Given the description of an element on the screen output the (x, y) to click on. 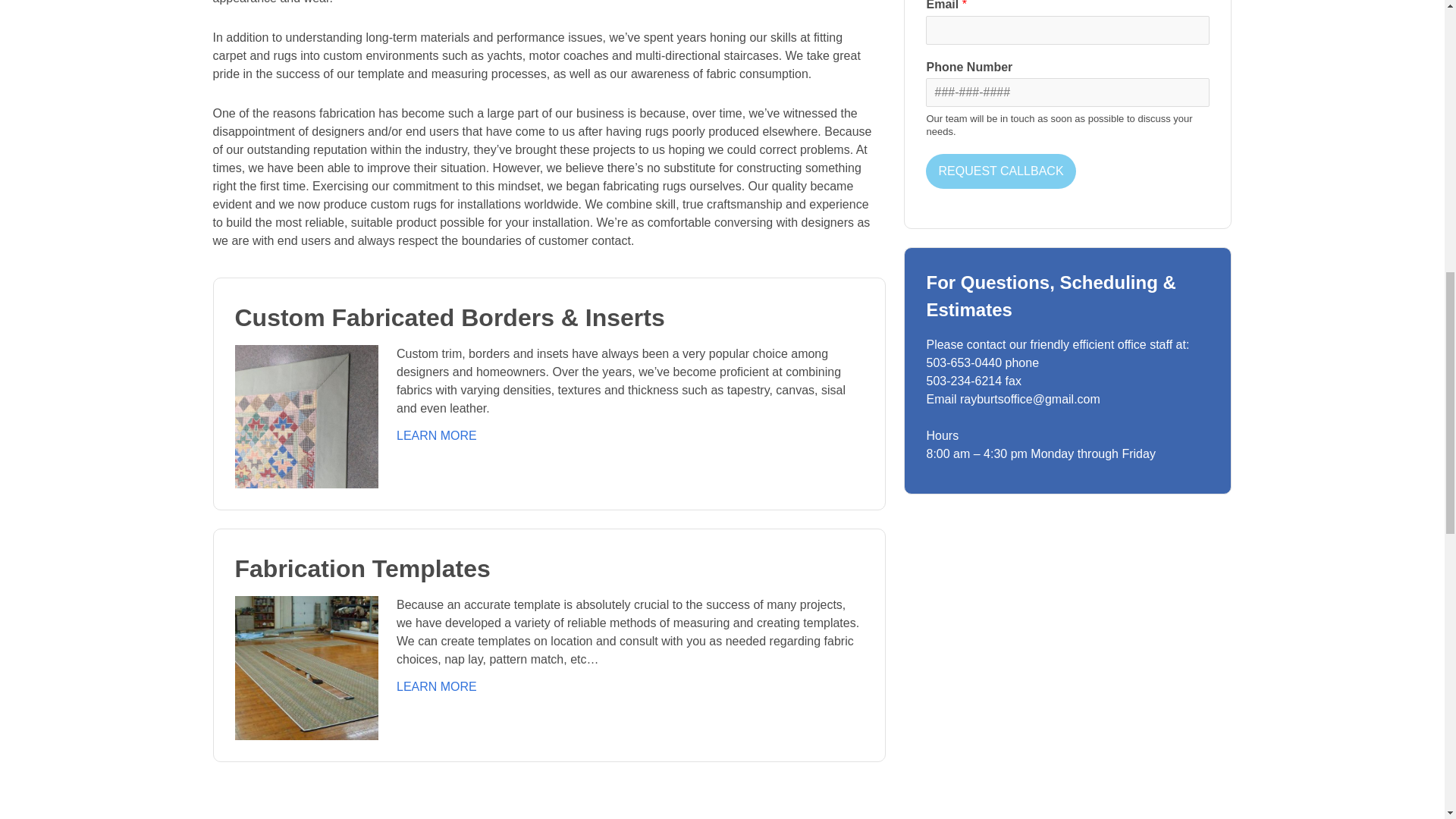
LEARN MORE (436, 686)
REQUEST CALLBACK (1000, 171)
LEARN MORE (436, 435)
